Given the description of an element on the screen output the (x, y) to click on. 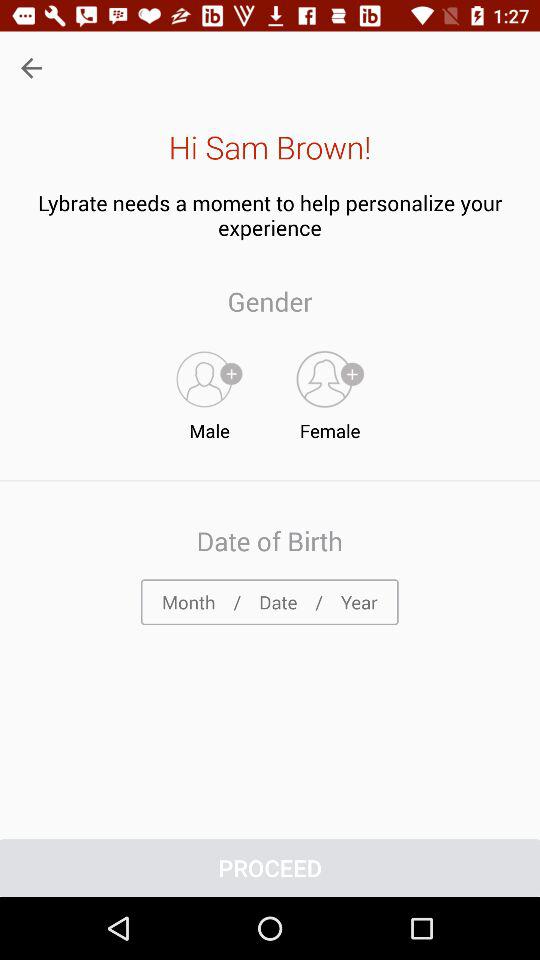
tap item to the right of the male (329, 391)
